Given the description of an element on the screen output the (x, y) to click on. 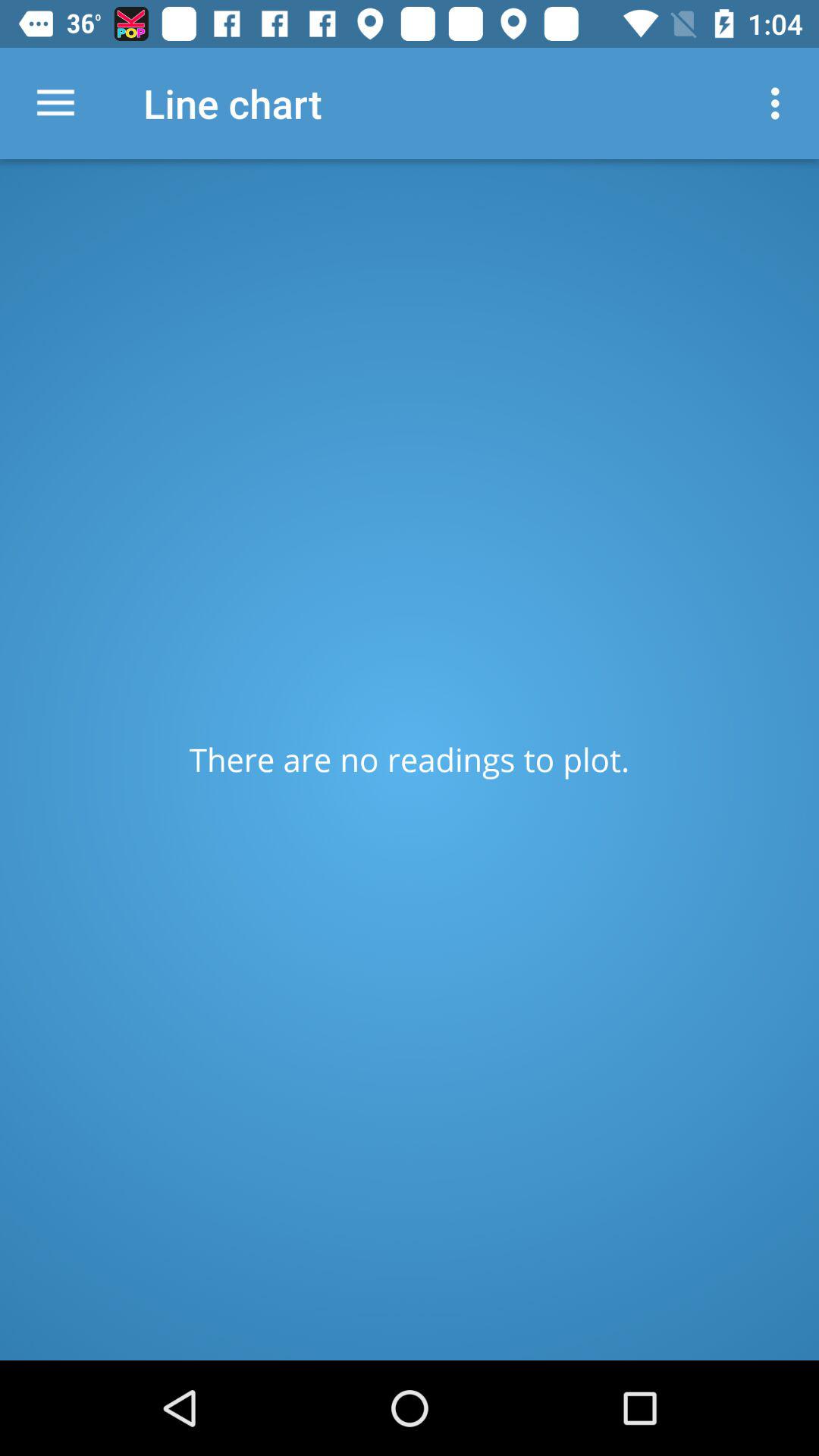
launch item at the top right corner (779, 103)
